Given the description of an element on the screen output the (x, y) to click on. 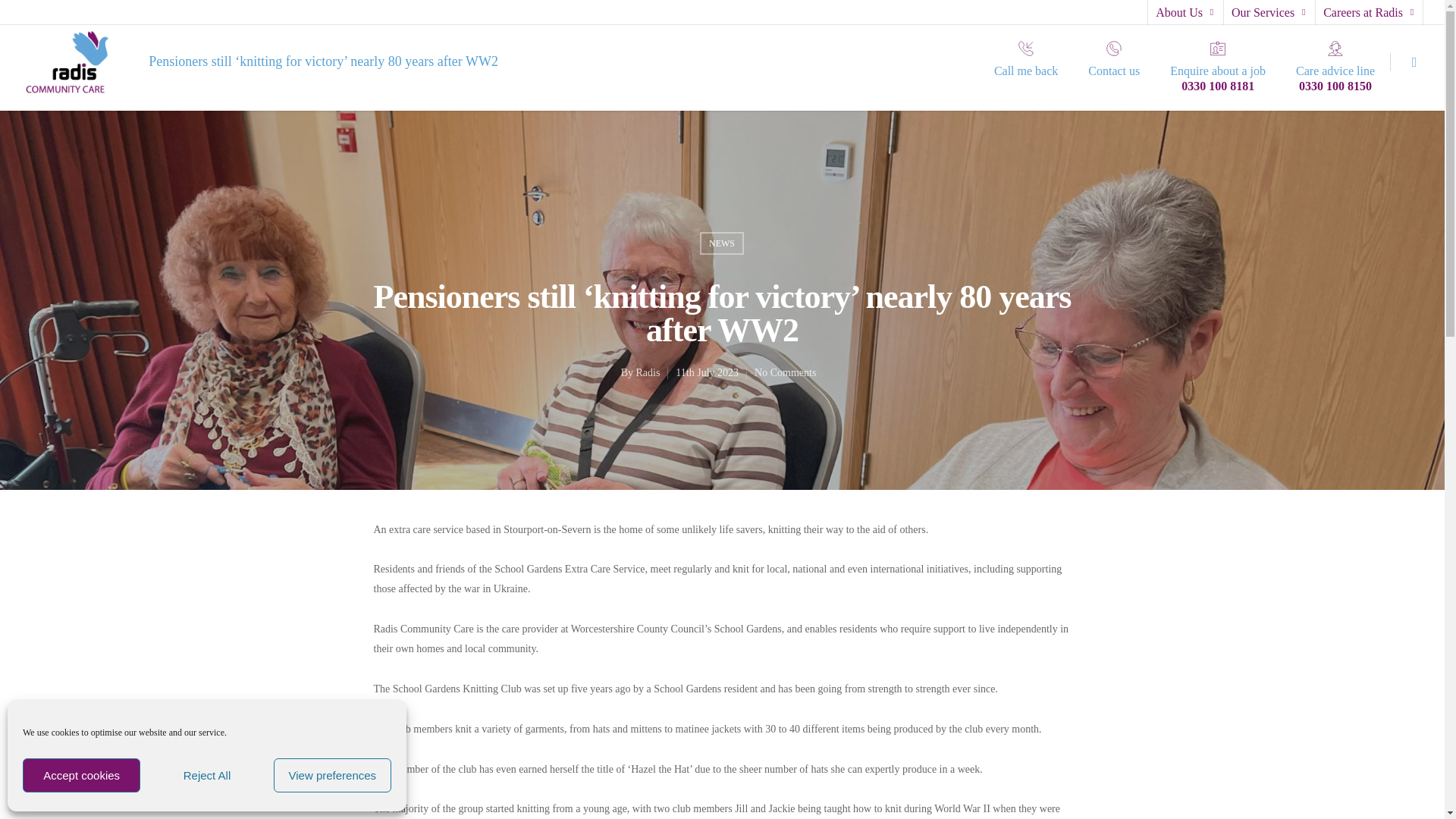
Careers at Radis (1368, 12)
Our Services (1268, 12)
Reject All (206, 775)
About Us (1184, 12)
Posts by Radis (646, 372)
View preferences (332, 775)
Accept cookies (81, 775)
